Given the description of an element on the screen output the (x, y) to click on. 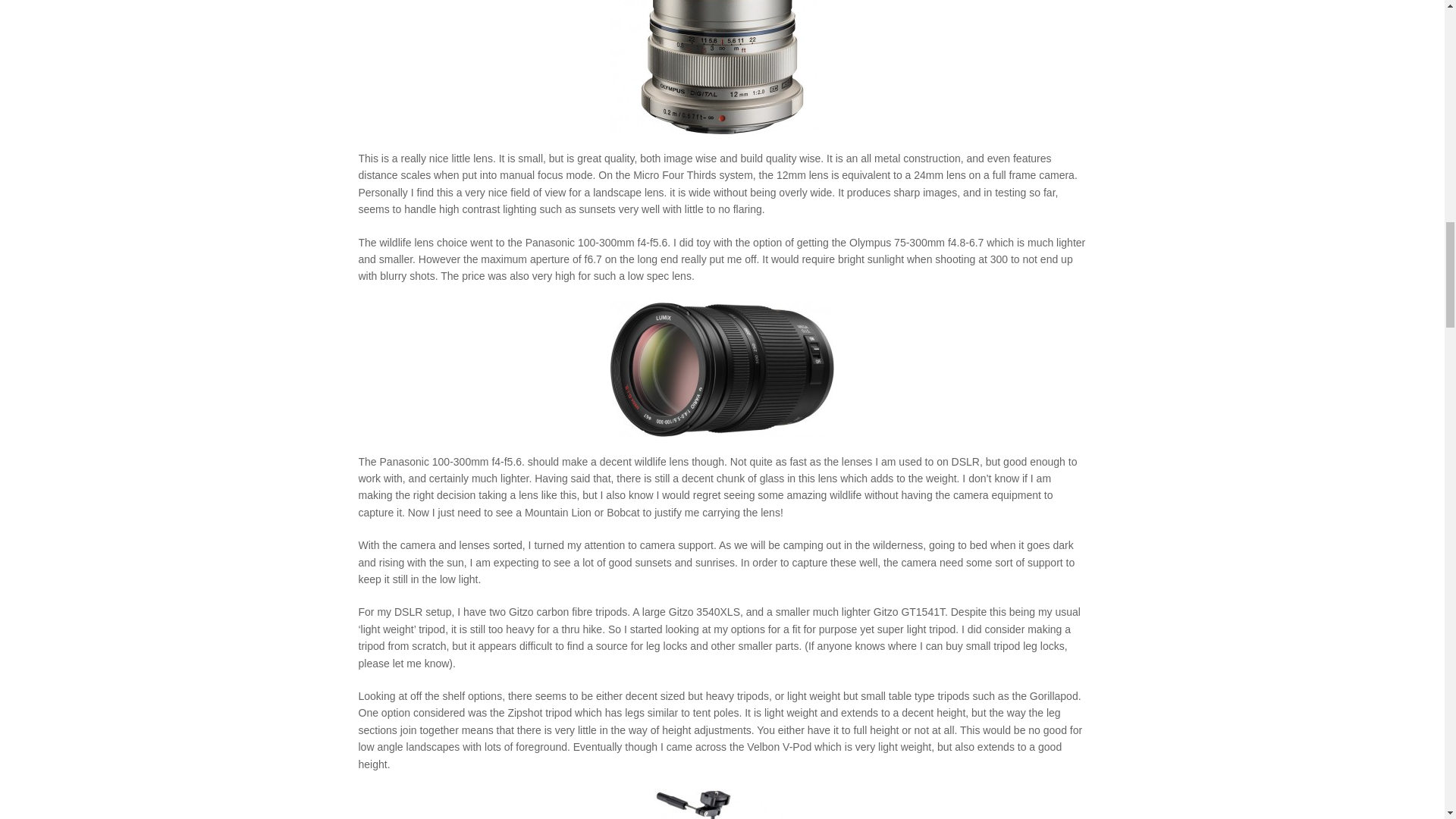
Velbon V-Pod (722, 803)
Panasonic 100-300mm (722, 369)
olympus-12mm f2 (722, 67)
